Given the description of an element on the screen output the (x, y) to click on. 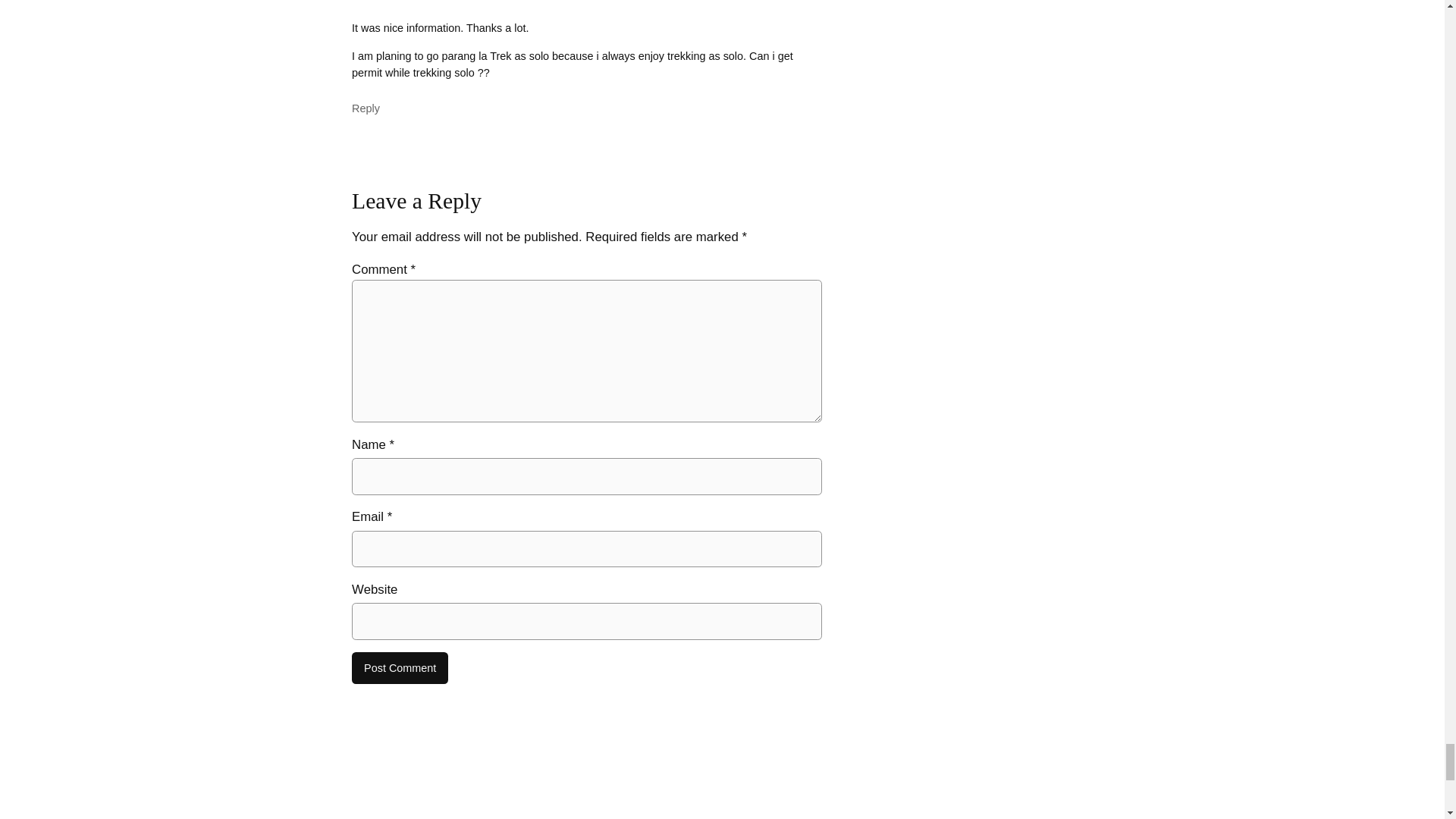
Post Comment (400, 667)
